Given the description of an element on the screen output the (x, y) to click on. 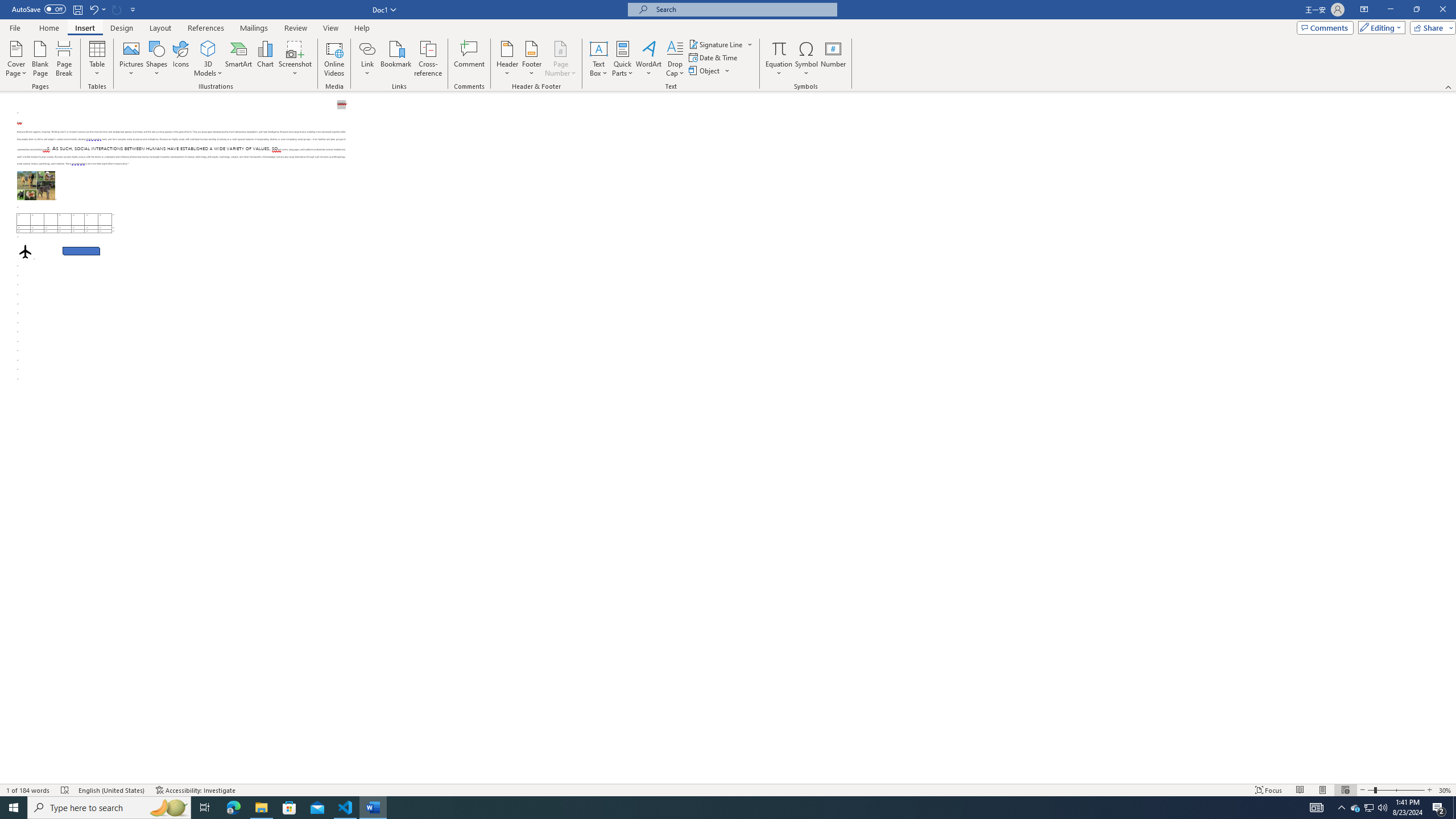
Online Videos... (333, 58)
Review (295, 28)
Bookmark... (396, 58)
Pictures (131, 58)
Rectangle: Diagonal Corners Snipped 2 (81, 250)
Help (361, 28)
Print Layout (1322, 790)
Screenshot (295, 58)
Equation (778, 58)
Chart... (265, 58)
Close (1442, 9)
Class: NetUIScrollBar (1450, 437)
Symbol (806, 58)
